Given the description of an element on the screen output the (x, y) to click on. 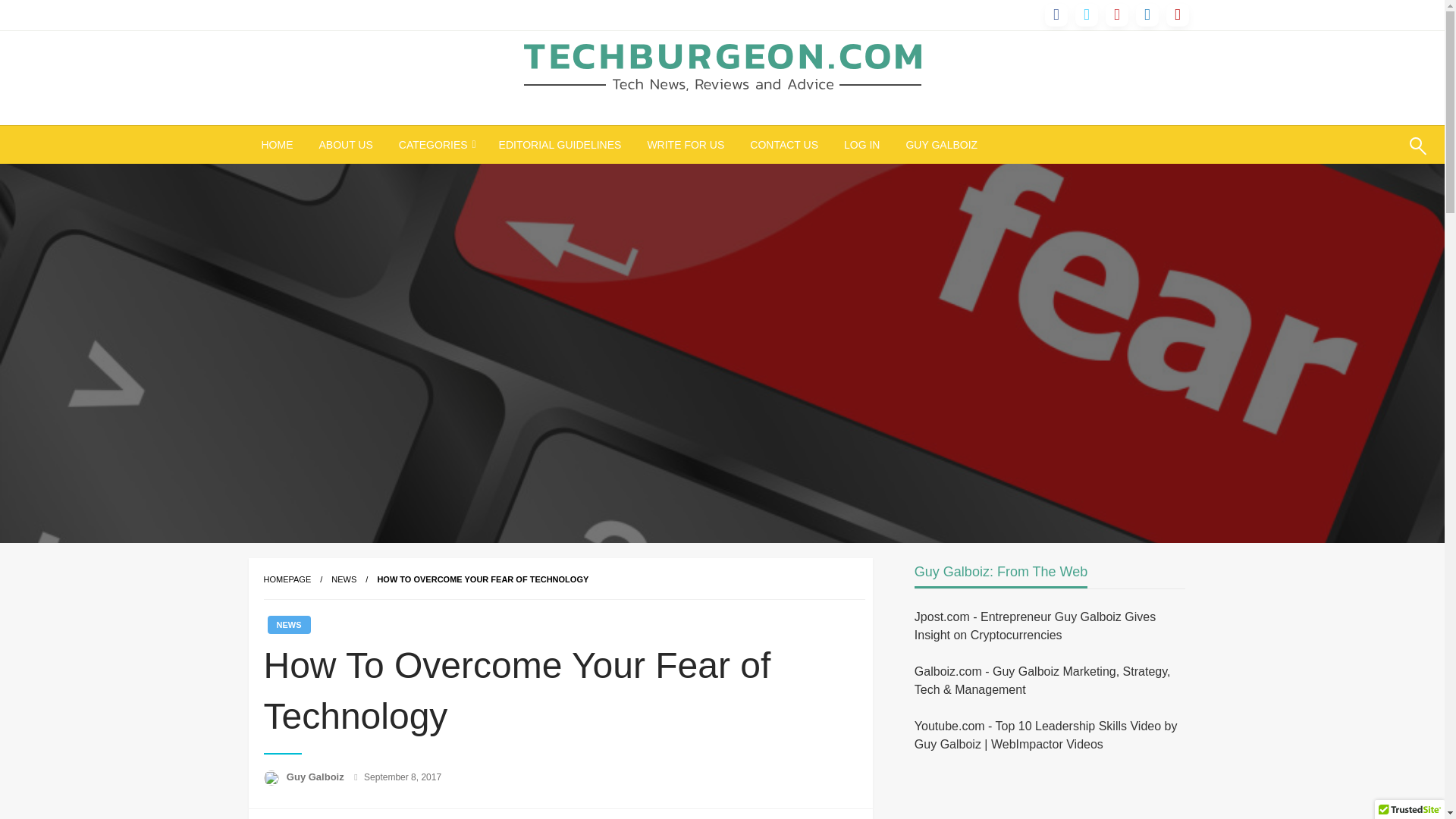
CATEGORIES (435, 144)
WRITE FOR US (684, 144)
Guy Galboiz (316, 776)
LOG IN (861, 144)
CONTACT US (783, 144)
Search (1381, 155)
HOME (276, 144)
ABOUT US (345, 144)
Tech Blog by Guy Galboiz (692, 121)
News (343, 578)
GUY GALBOIZ (941, 144)
Advertisement (1041, 794)
How To Overcome Your Fear of Technology (482, 578)
EDITORIAL GUIDELINES (560, 144)
Homepage (287, 578)
